Given the description of an element on the screen output the (x, y) to click on. 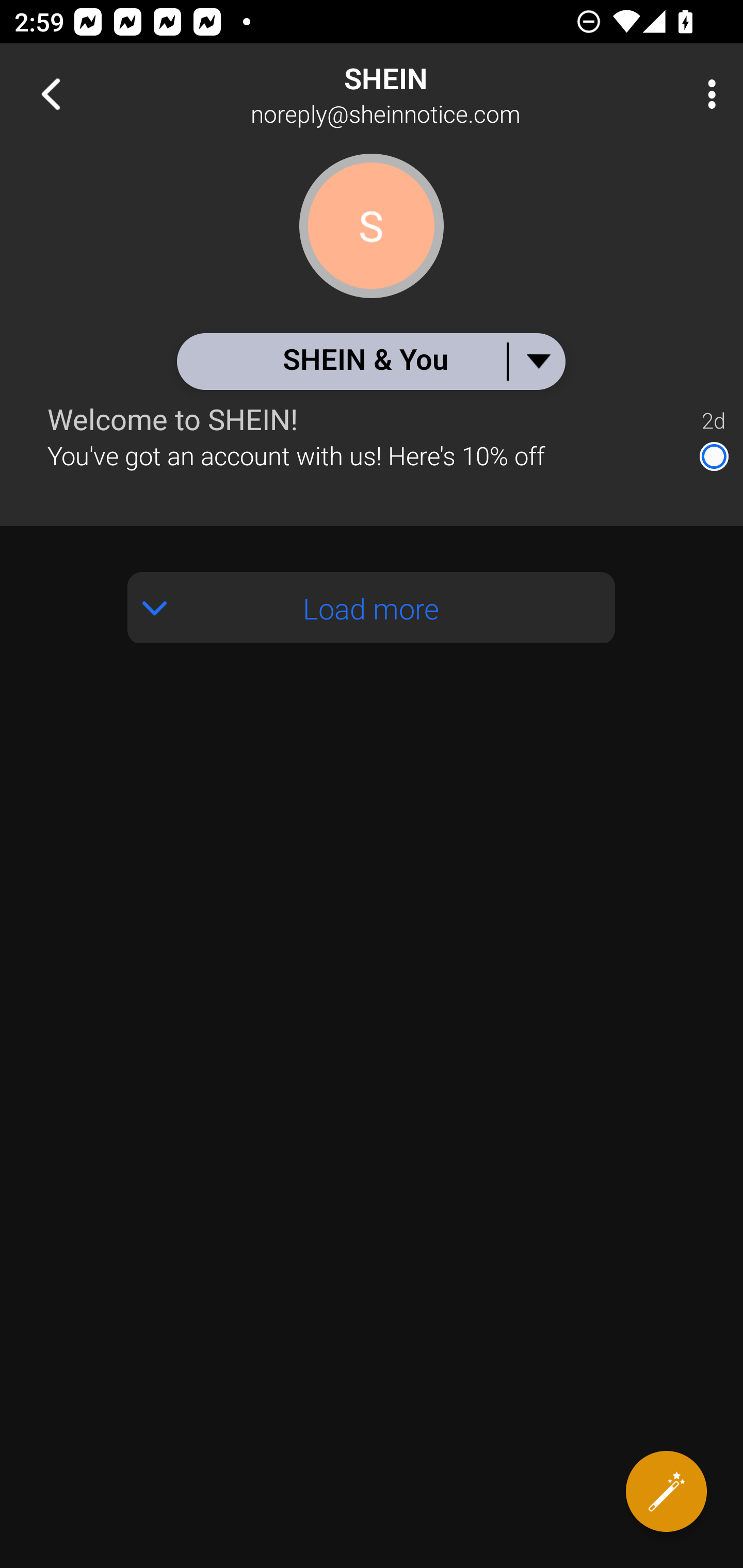
Navigate up (50, 93)
SHEIN noreply@sheinnotice.com (436, 93)
More Options (706, 93)
SHEIN & You (370, 361)
Load more (371, 607)
